Given the description of an element on the screen output the (x, y) to click on. 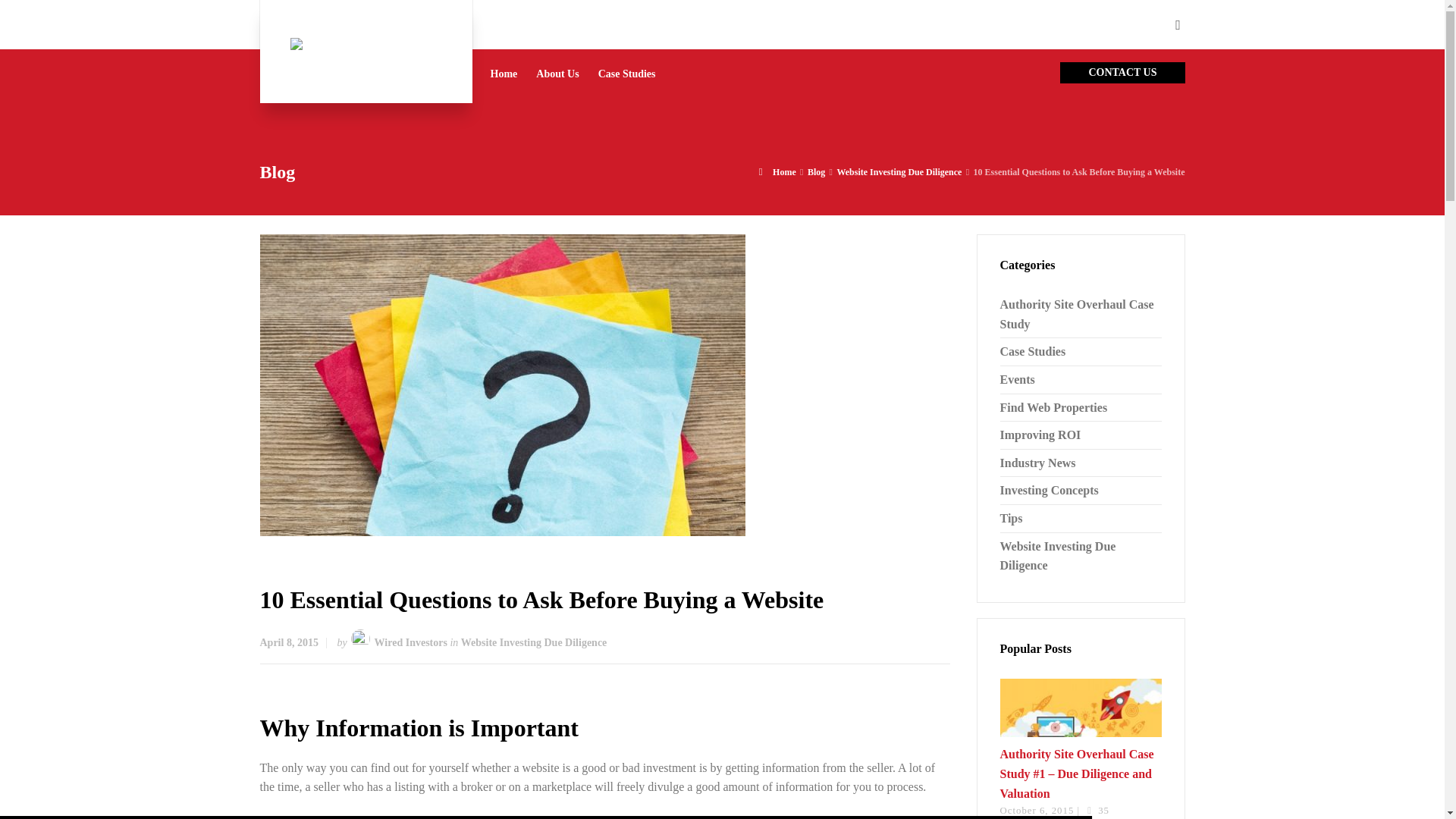
About Us (557, 73)
Blog (816, 172)
Website Investing Due Diligence (534, 642)
Authority Site Overhaul Case Study (1075, 314)
Case Studies (1031, 350)
Investing Concepts (1047, 490)
CONTACT US (1122, 72)
Wired Investors (410, 642)
Events (1015, 379)
Case Studies (627, 73)
Home (777, 172)
Wired Investors (365, 51)
Website Investing Due Diligence (897, 172)
Home (503, 73)
